Given the description of an element on the screen output the (x, y) to click on. 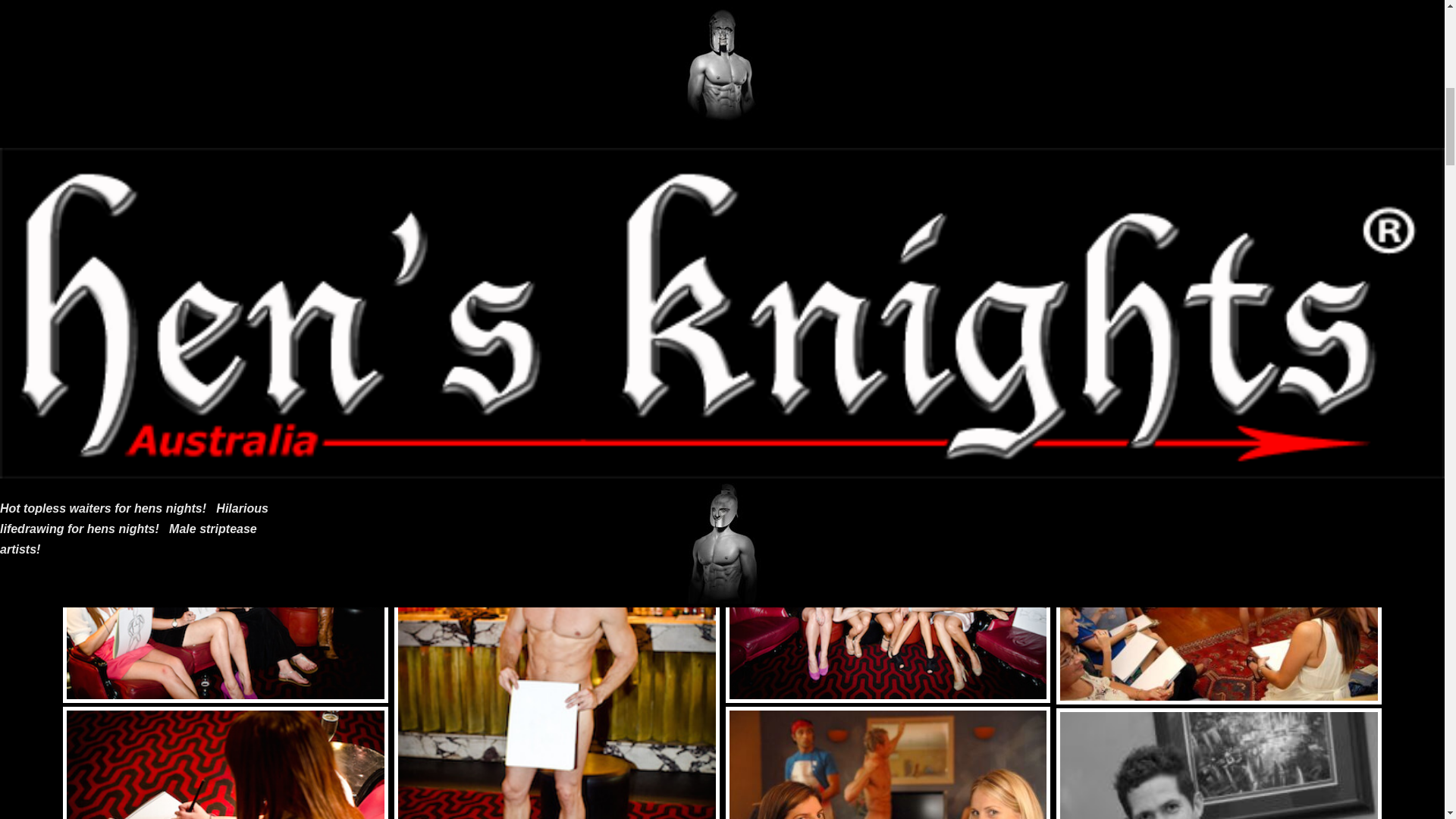
Hen Drawing a Naked Life Drawing Model (225, 762)
Hens Art Class with Male Nude Drawings (225, 592)
Hens Party Goer (722, 281)
